Given the description of an element on the screen output the (x, y) to click on. 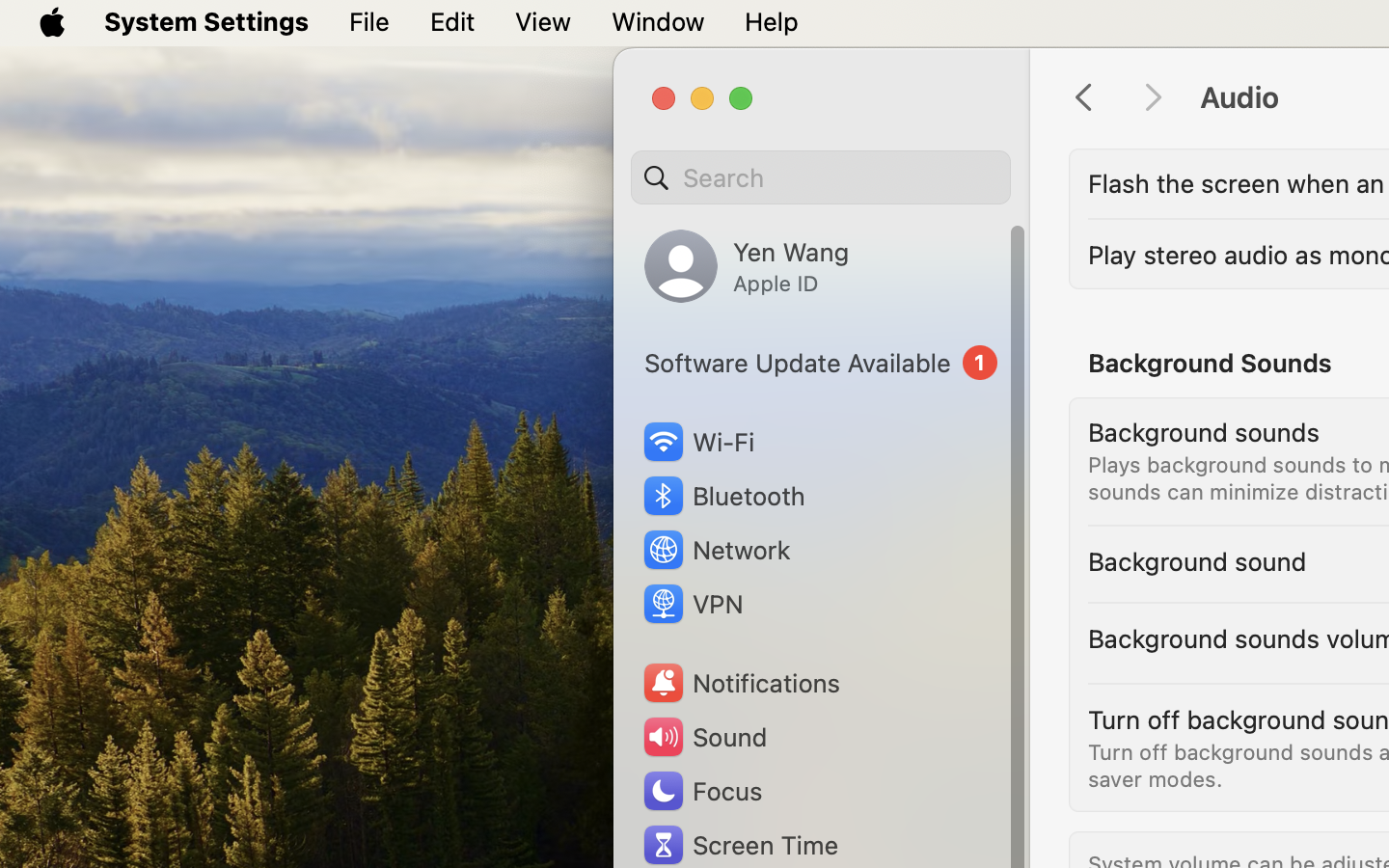
Notifications Element type: AXStaticText (740, 682)
Wi‑Fi Element type: AXStaticText (697, 441)
Network Element type: AXStaticText (715, 549)
Background sound Element type: AXStaticText (1197, 560)
VPN Element type: AXStaticText (691, 603)
